Given the description of an element on the screen output the (x, y) to click on. 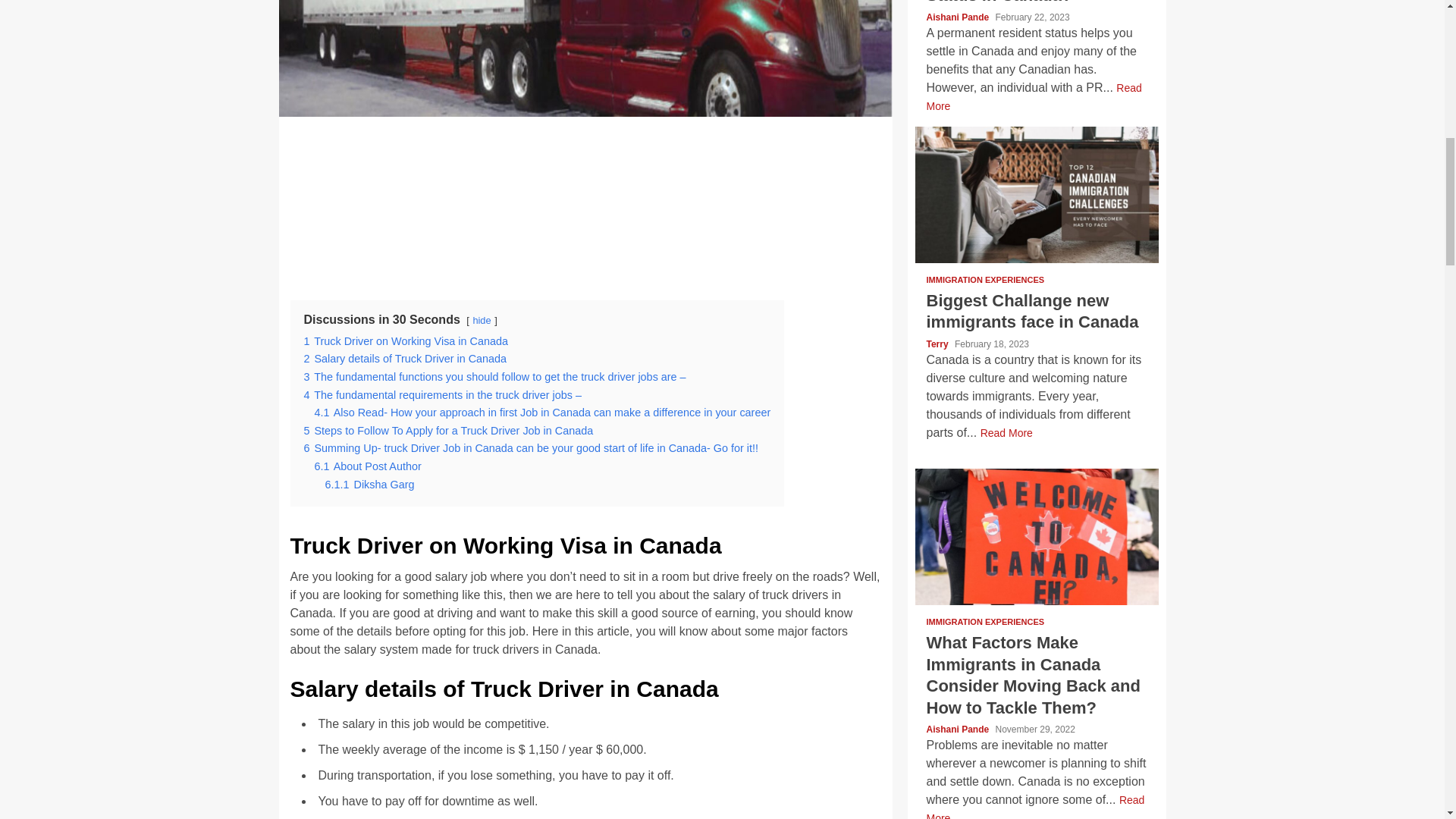
Advertisement (592, 200)
5 Steps to Follow To Apply for a Truck Driver Job in Canada (447, 430)
6.1 About Post Author (367, 466)
6.1.1 Diksha Garg (368, 484)
1 Truck Driver on Working Visa in Canada (404, 340)
2 Salary details of Truck Driver in Canada (404, 358)
hide (480, 319)
